Given the description of an element on the screen output the (x, y) to click on. 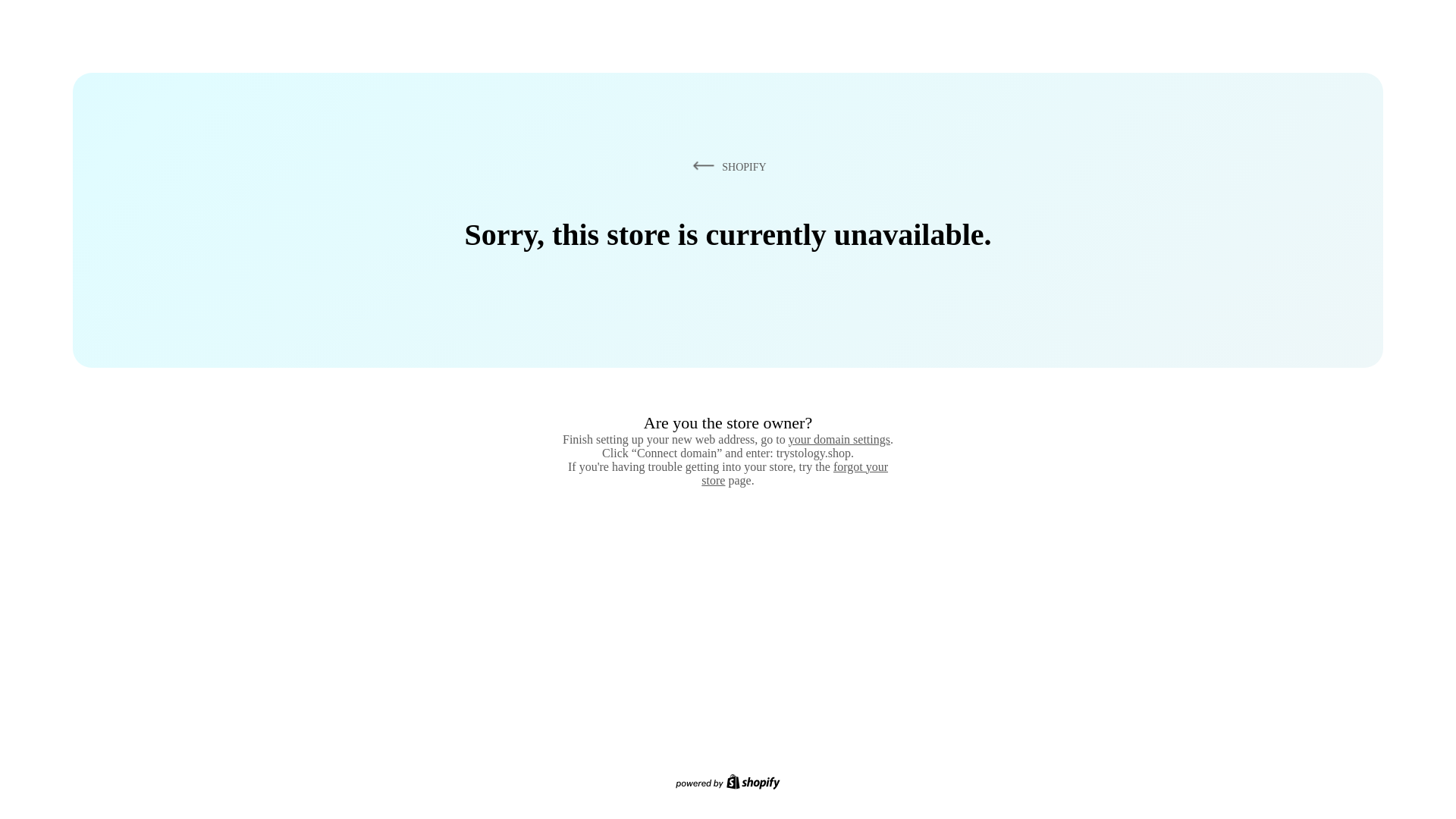
forgot your store (794, 473)
your domain settings (839, 439)
SHOPIFY (726, 166)
